Given the description of an element on the screen output the (x, y) to click on. 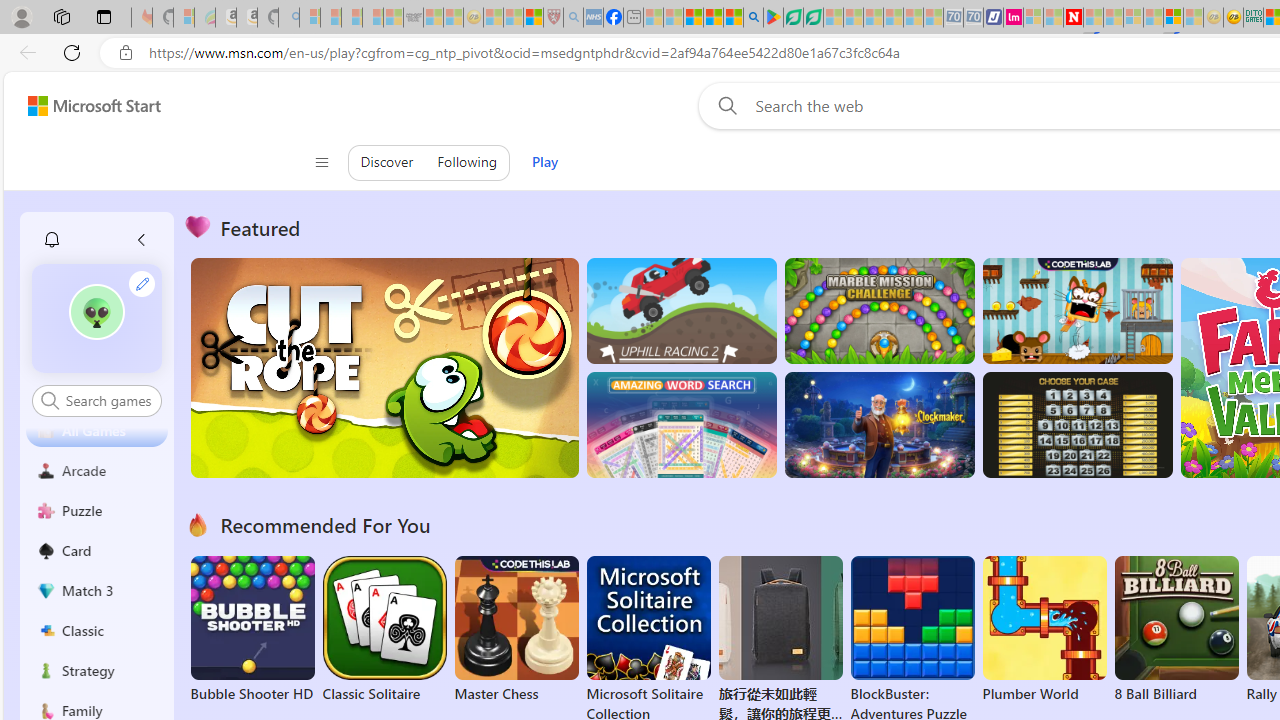
Class: search-icon (50, 400)
Squicky (1076, 310)
Jobs - lastminute.com Investor Portal (1012, 17)
AutomationID: control (108, 400)
